Given the description of an element on the screen output the (x, y) to click on. 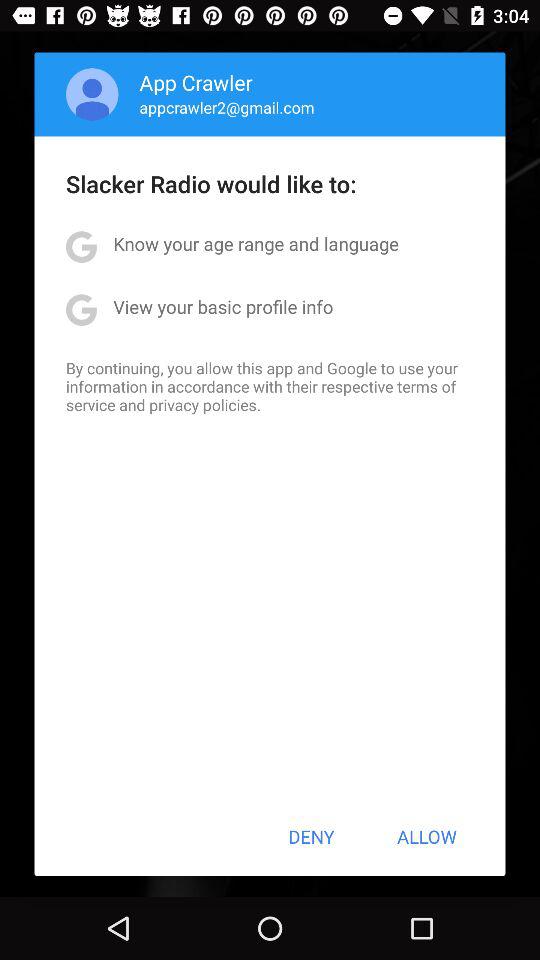
choose the know your age icon (255, 243)
